Given the description of an element on the screen output the (x, y) to click on. 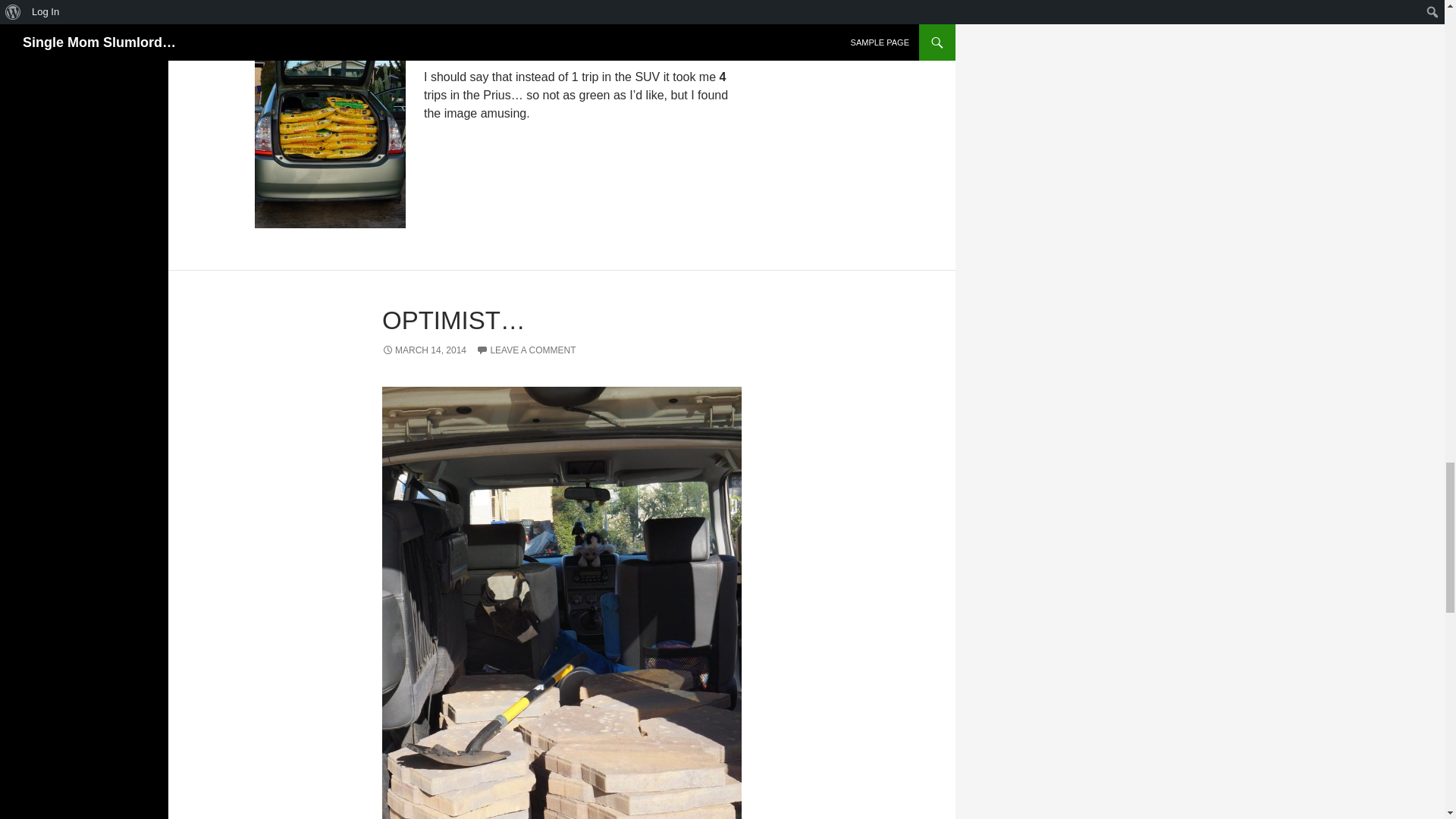
LEAVE A COMMENT (525, 349)
MARCH 14, 2014 (423, 349)
